Given the description of an element on the screen output the (x, y) to click on. 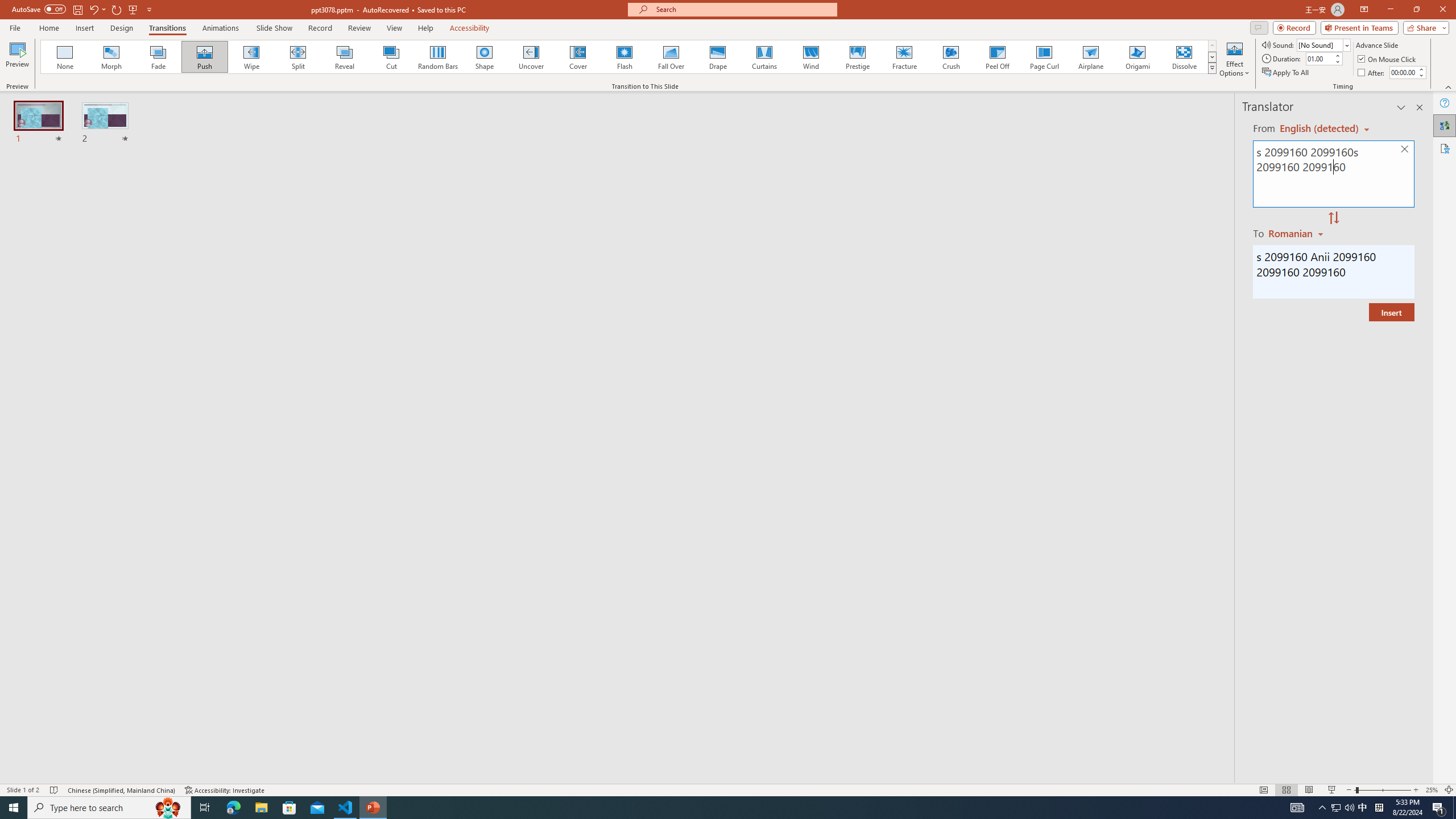
Fracture (903, 56)
Sound (1324, 44)
Peel Off (997, 56)
